Given the description of an element on the screen output the (x, y) to click on. 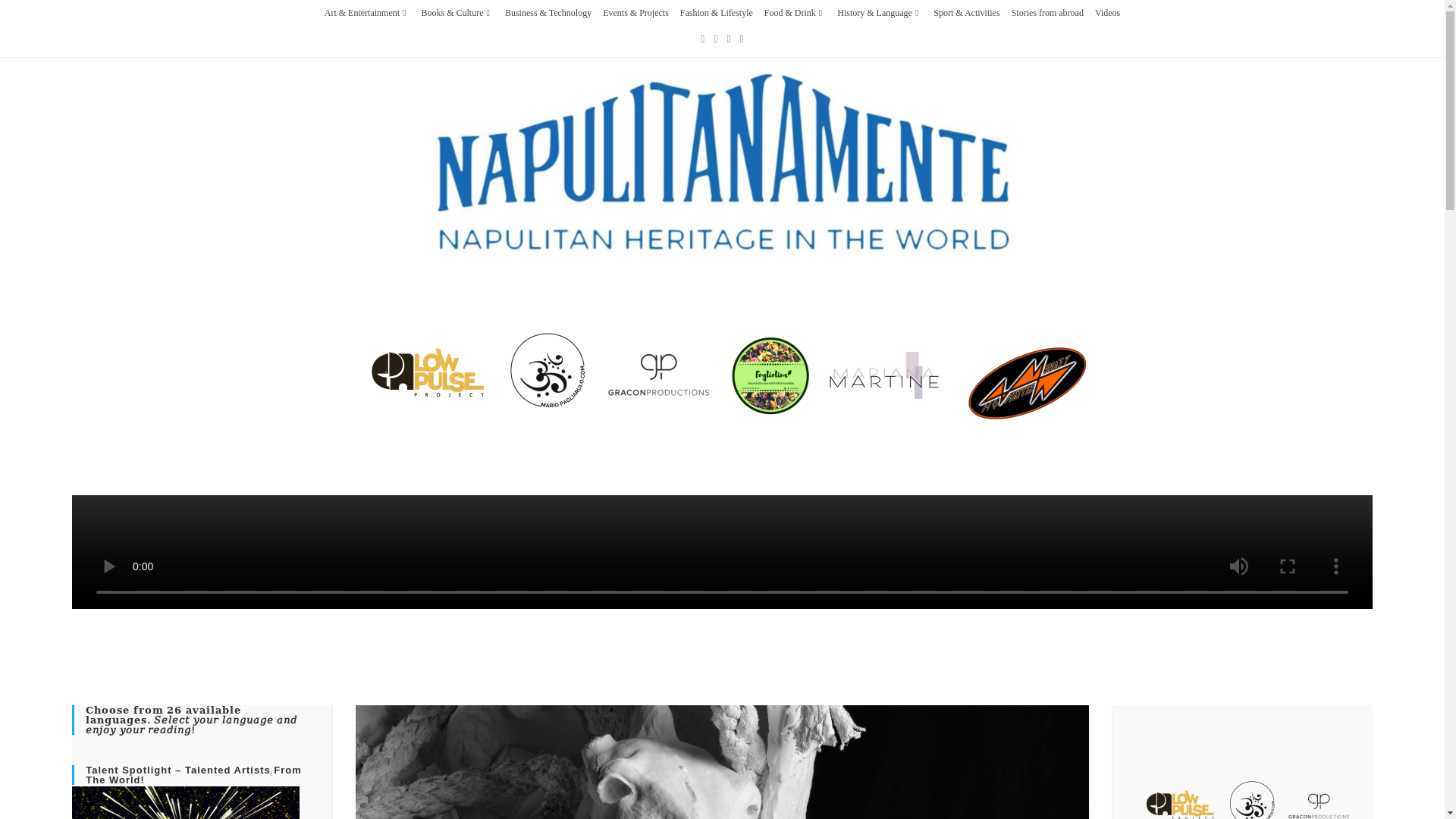
Stories from abroad (1047, 12)
Videos (1106, 12)
